Given the description of an element on the screen output the (x, y) to click on. 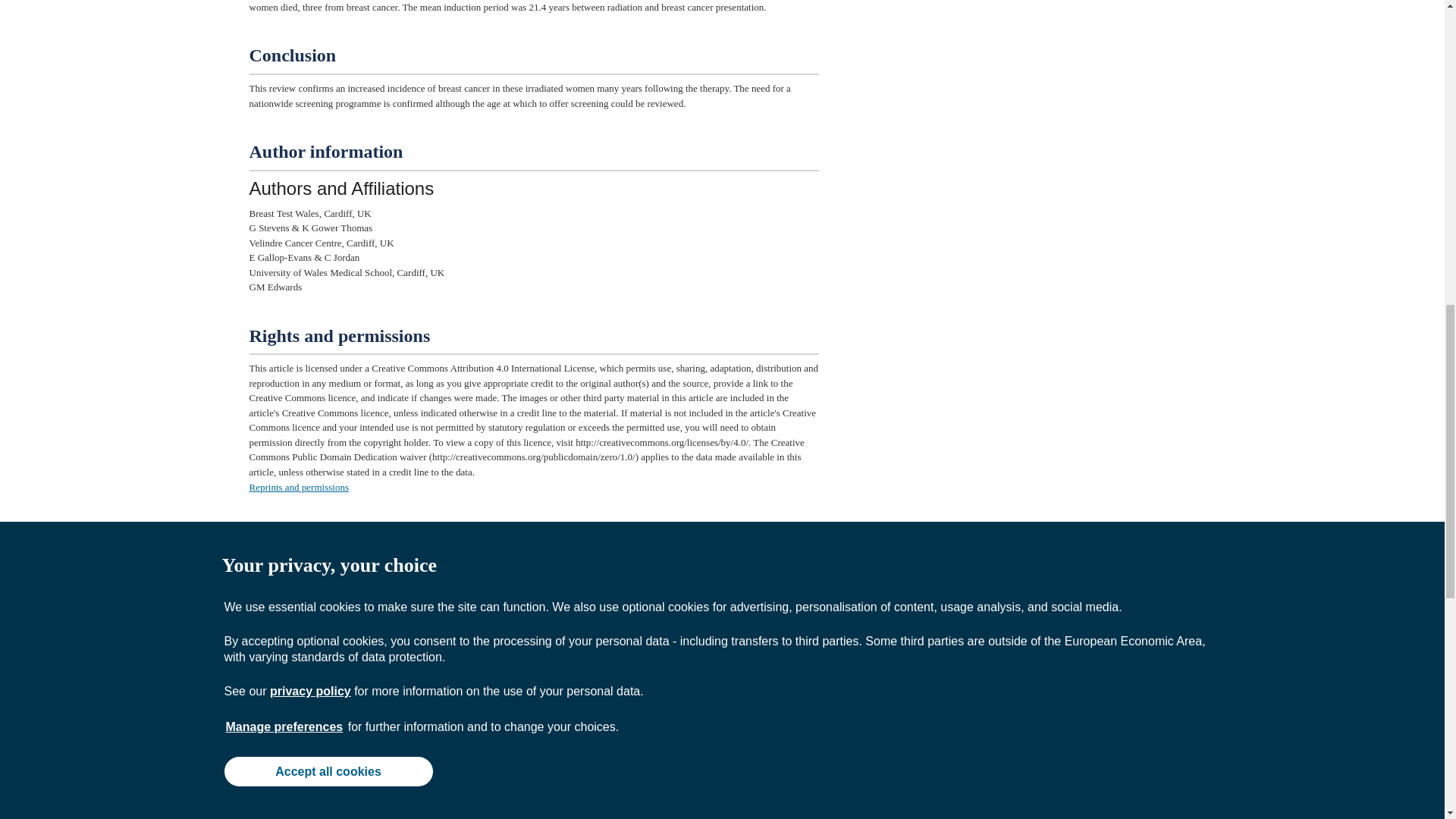
Digital Object Identifier (288, 655)
